Given the description of an element on the screen output the (x, y) to click on. 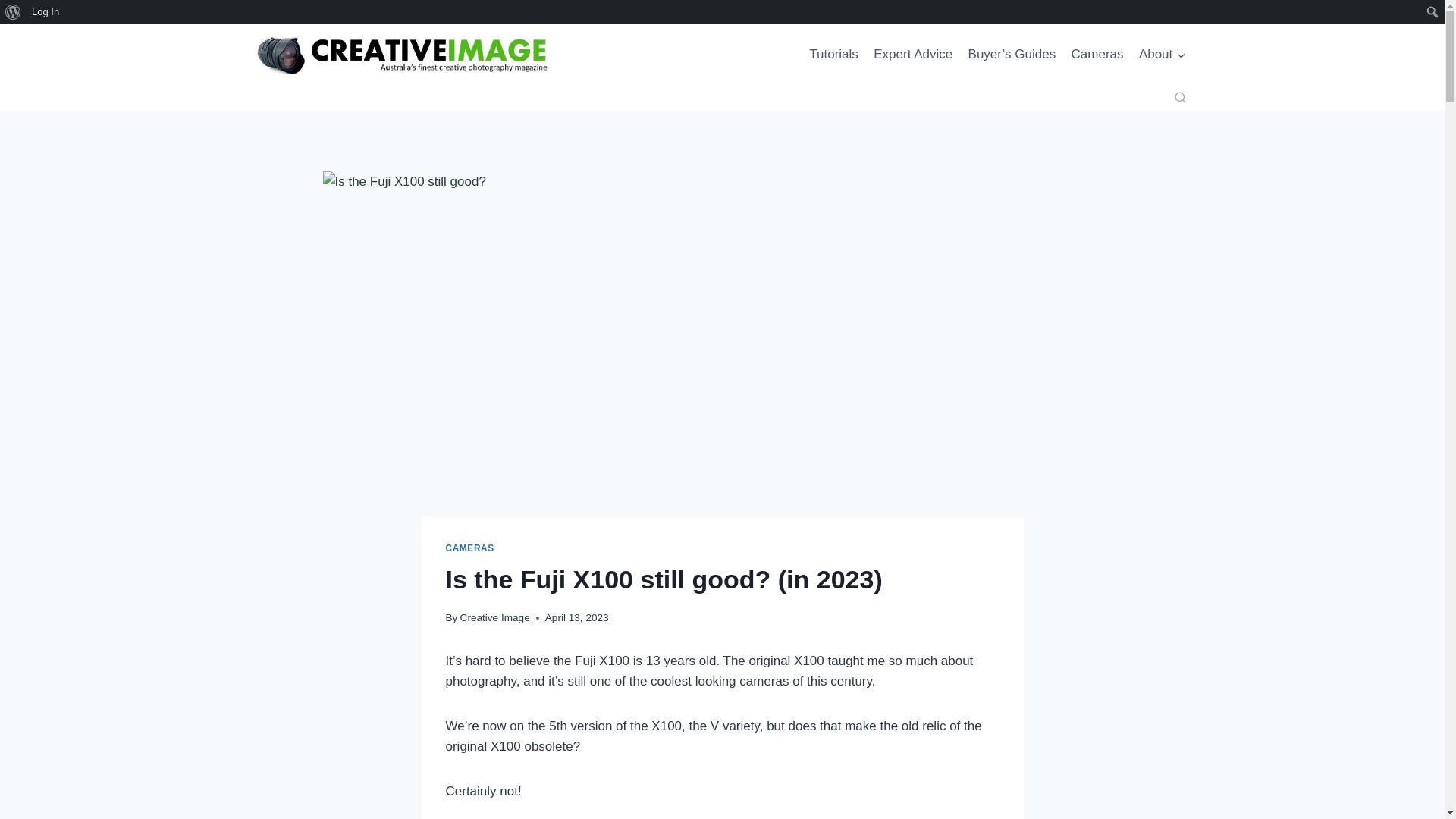
CAMERAS (470, 547)
Cameras (1096, 54)
About (1162, 54)
Search (15, 12)
Tutorials (834, 54)
Expert Advice (912, 54)
Log In (45, 12)
Creative Image (494, 617)
